Given the description of an element on the screen output the (x, y) to click on. 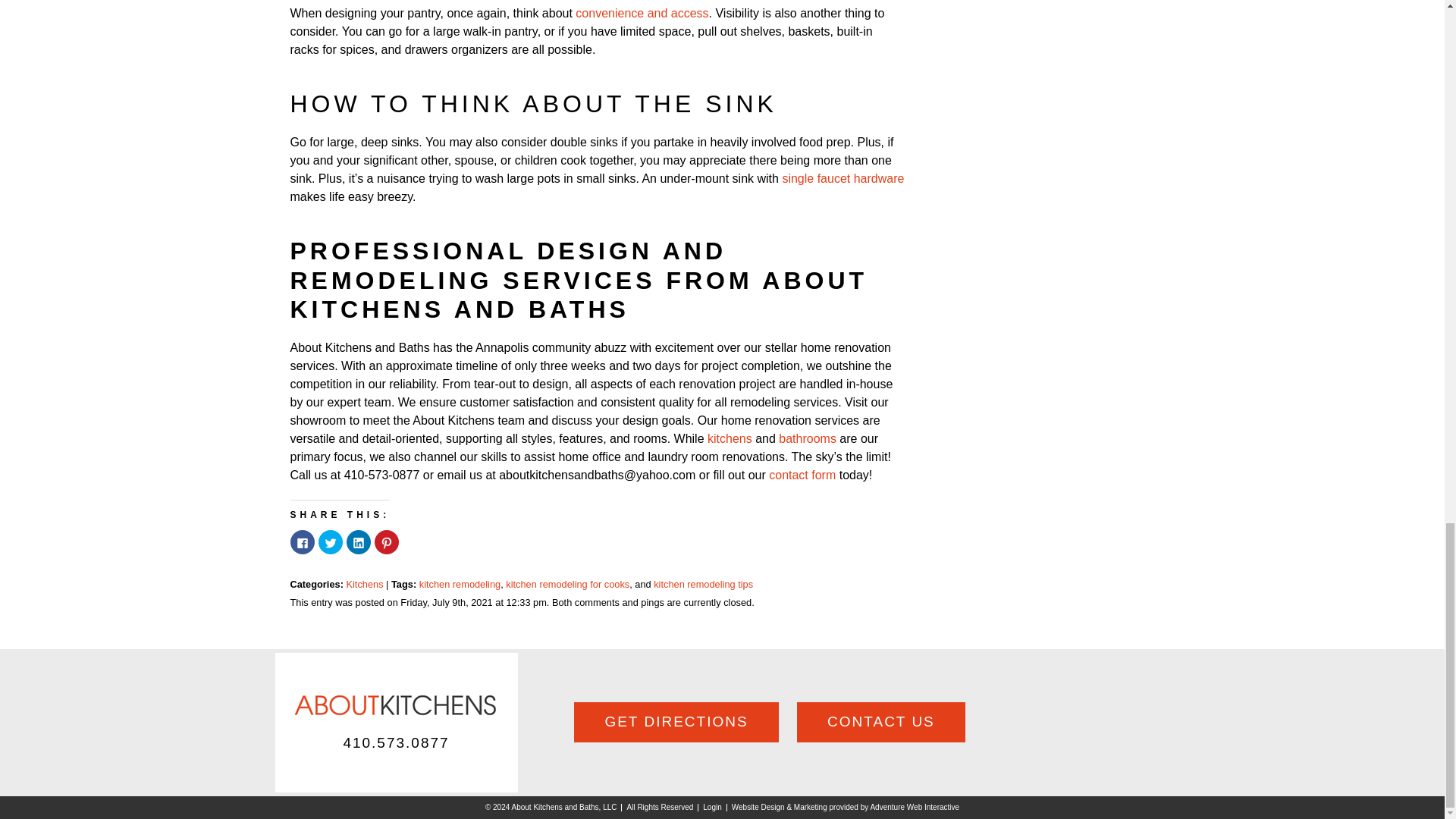
Click to share on Facebook (301, 541)
Click to share on Pinterest (386, 541)
About Kitchens (395, 705)
Click to share on LinkedIn (357, 541)
single faucet hardware (842, 178)
convenience and access (641, 12)
Click to share on Twitter (330, 541)
